Given the description of an element on the screen output the (x, y) to click on. 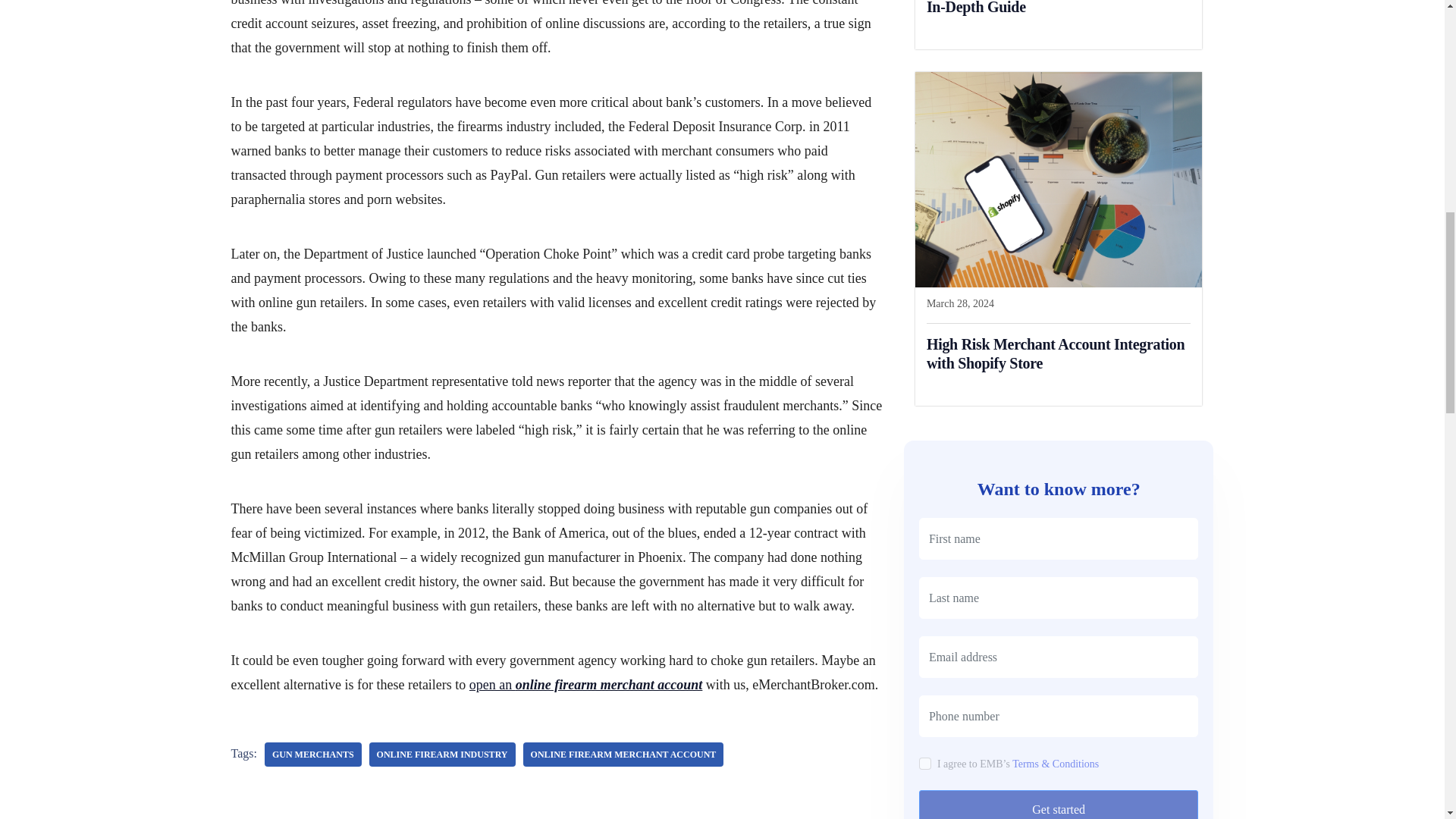
Online Firearm Industry (442, 754)
Gun Merchants (312, 754)
Online firearm merchant account (622, 754)
